Given the description of an element on the screen output the (x, y) to click on. 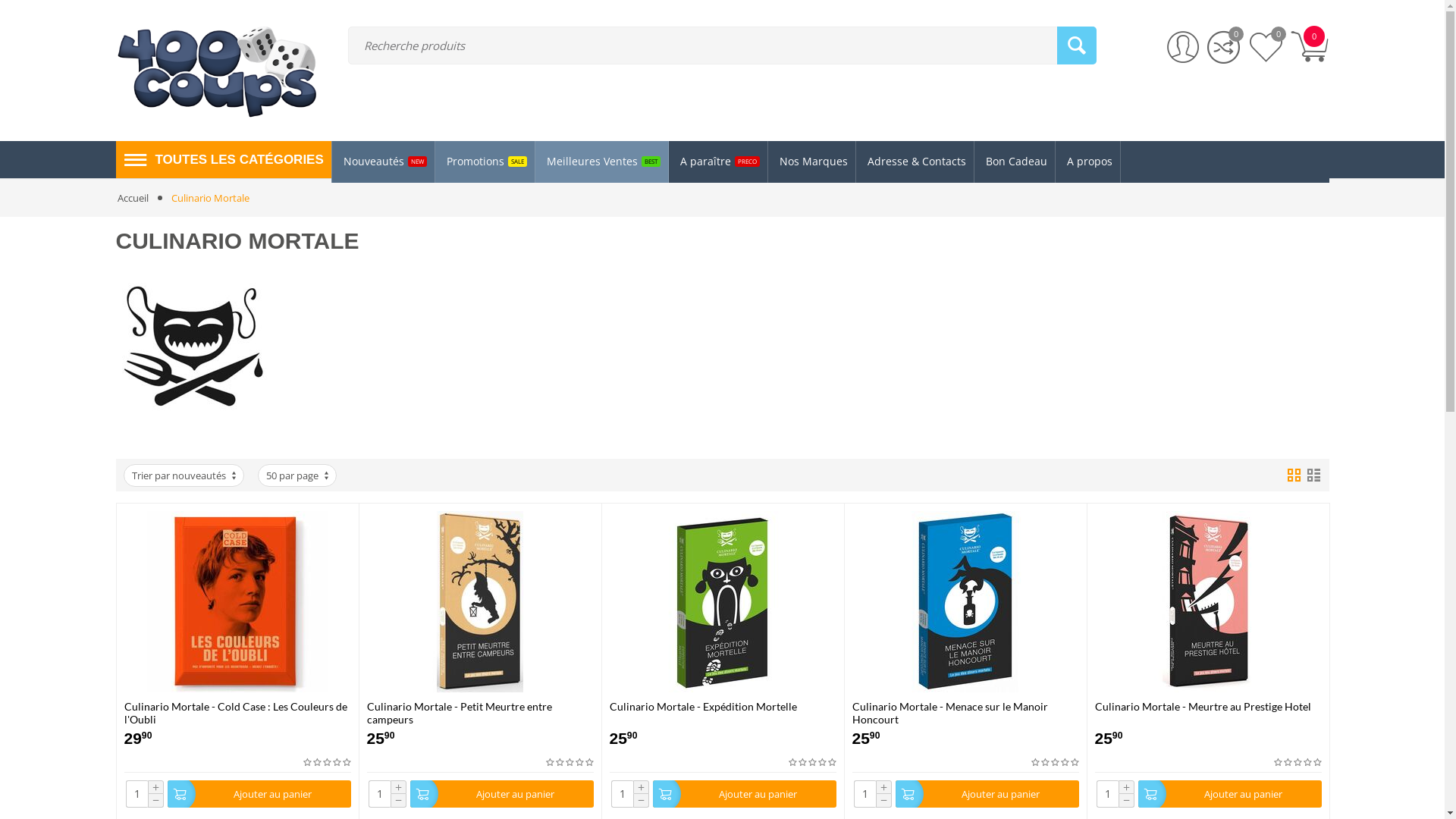
50 par page Element type: text (296, 475)
Ajouter au panier Element type: text (258, 794)
0 Element type: text (1265, 47)
Adresse & Contacts Element type: text (915, 161)
Culinario Mortale - Menace sur le Manoir Honcourt Element type: text (965, 712)
Culinario Mortale - Petit Meurtre entre campeurs Element type: text (480, 712)
A propos Element type: text (1087, 161)
Ajouter au panier Element type: text (743, 794)
+ Element type: text (397, 786)
Meilleures VentesBEST Element type: text (601, 161)
+ Element type: text (883, 786)
Culinario Mortale - Cold Case : Les Couleurs de l'Oubli Element type: text (237, 712)
+ Element type: text (640, 786)
Culinario Mortale - Meurtre au Prestige Hotel Element type: text (1208, 712)
0 Element type: text (1223, 47)
Accueil Element type: text (132, 197)
+ Element type: text (155, 786)
PromotionsSALE Element type: text (485, 161)
0 Element type: text (1308, 46)
Recherche rapide Element type: hover (1076, 45)
Ajouter au panier Element type: text (986, 794)
Nos Marques Element type: text (812, 161)
Ajouter au panier Element type: text (501, 794)
+ Element type: text (1125, 786)
Ajouter au panier Element type: text (1229, 794)
Recherche produits Element type: hover (722, 45)
Bon Cadeau Element type: text (1014, 161)
